Given the description of an element on the screen output the (x, y) to click on. 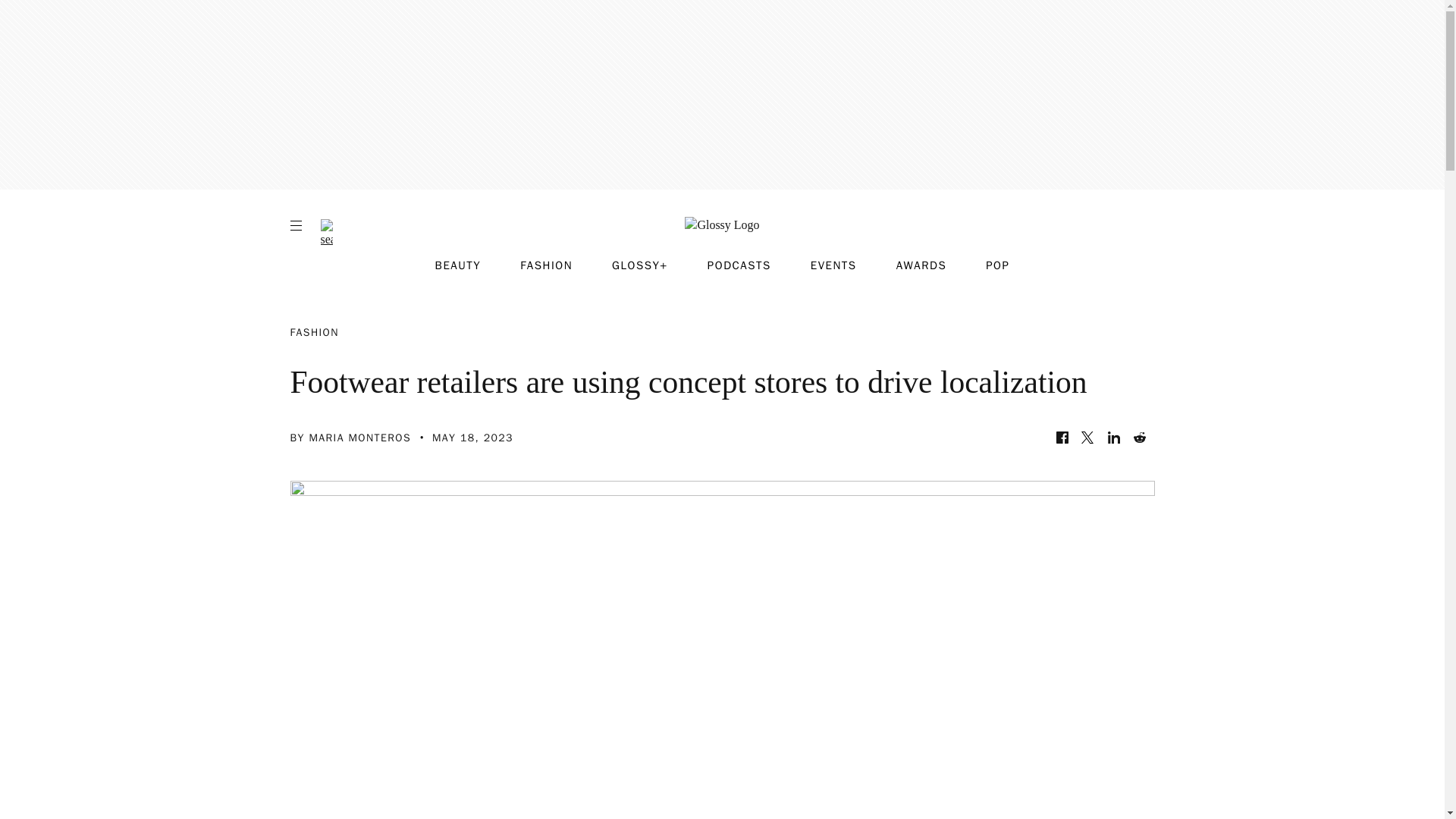
FASHION (545, 264)
EVENTS (833, 264)
BEAUTY (458, 264)
PODCASTS (739, 264)
POP (997, 264)
AWARDS (921, 264)
